Given the description of an element on the screen output the (x, y) to click on. 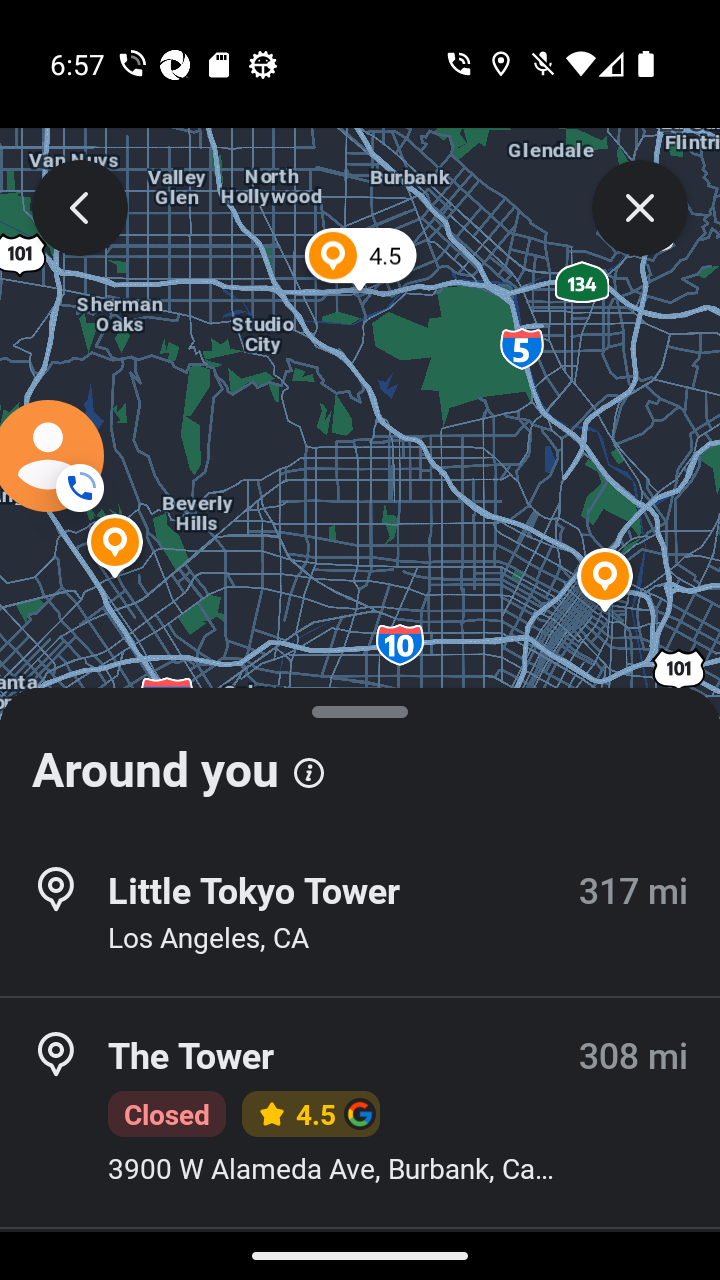
Around you (360, 760)
Little Tokyo Tower 317 mi Los Angeles, CA (360, 914)
